Given the description of an element on the screen output the (x, y) to click on. 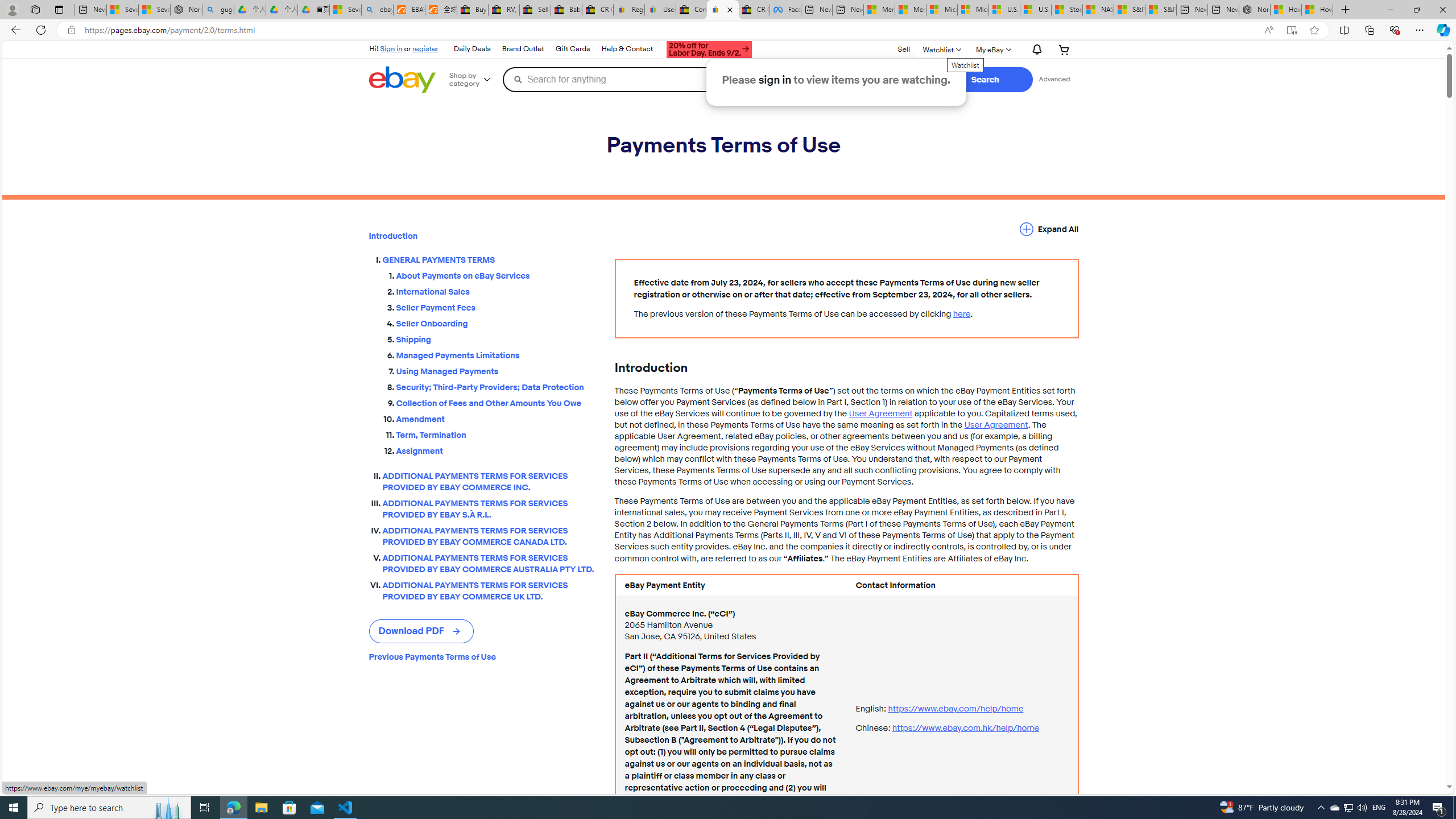
Help & Contact (627, 49)
Your shopping cart (1064, 49)
Expand Cart (1064, 49)
guge yunpan - Search (218, 9)
Download PDF  (421, 631)
Seller Payment Fees (496, 305)
Sell (904, 49)
S&P 500, Nasdaq end lower, weighed by Nvidia dip | Watch (1160, 9)
